Given the description of an element on the screen output the (x, y) to click on. 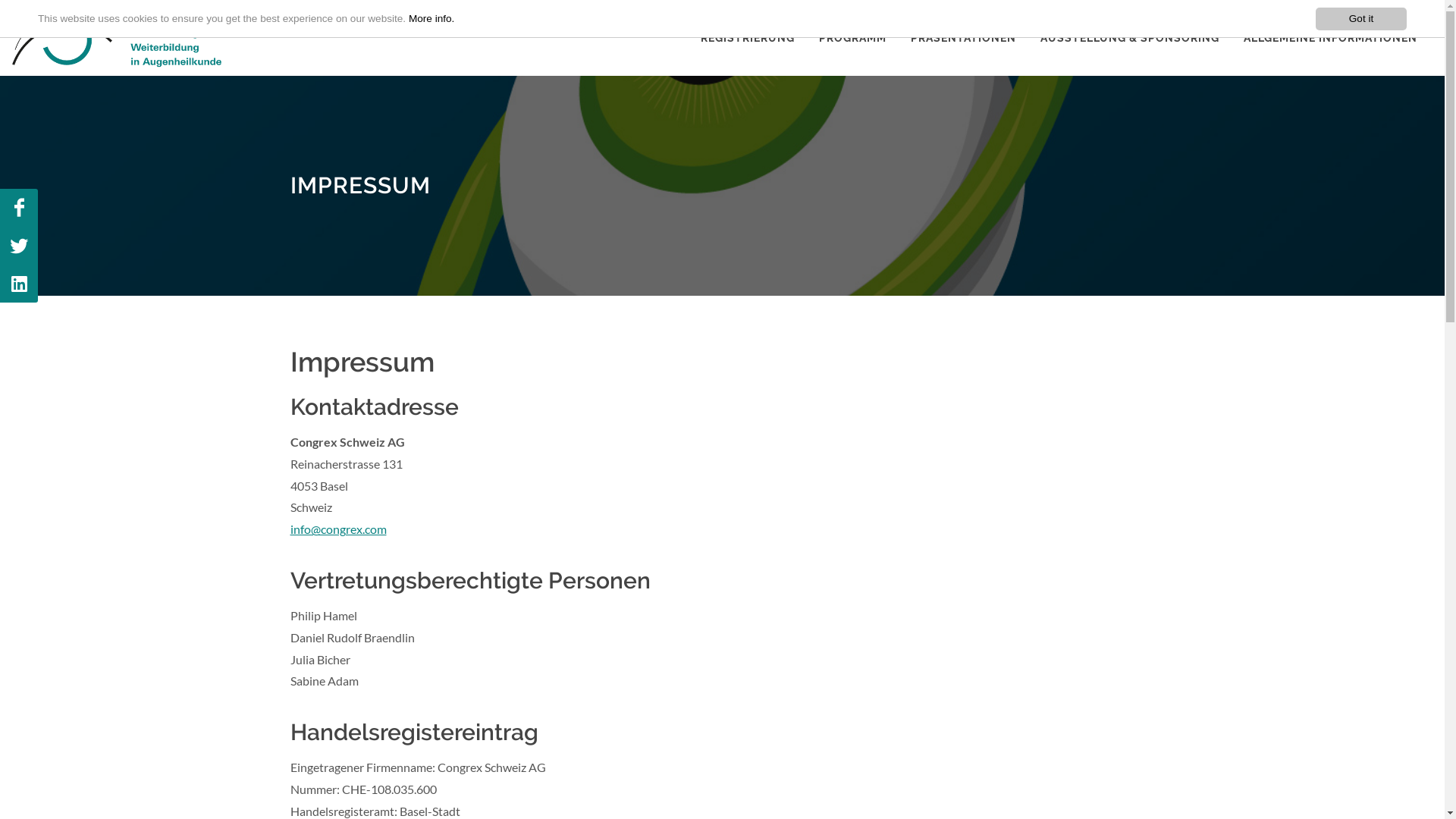
Got it Element type: text (1360, 18)
REGISTRIERUNG Element type: text (747, 37)
info@congrex.com Element type: text (337, 528)
AUSSTELLUNG & SPONSORING Element type: text (1129, 37)
More info. Element type: text (431, 18)
ALLGEMEINE INFORMATIONEN Element type: text (1330, 37)
PROGRAMM Element type: text (852, 37)
